Given the description of an element on the screen output the (x, y) to click on. 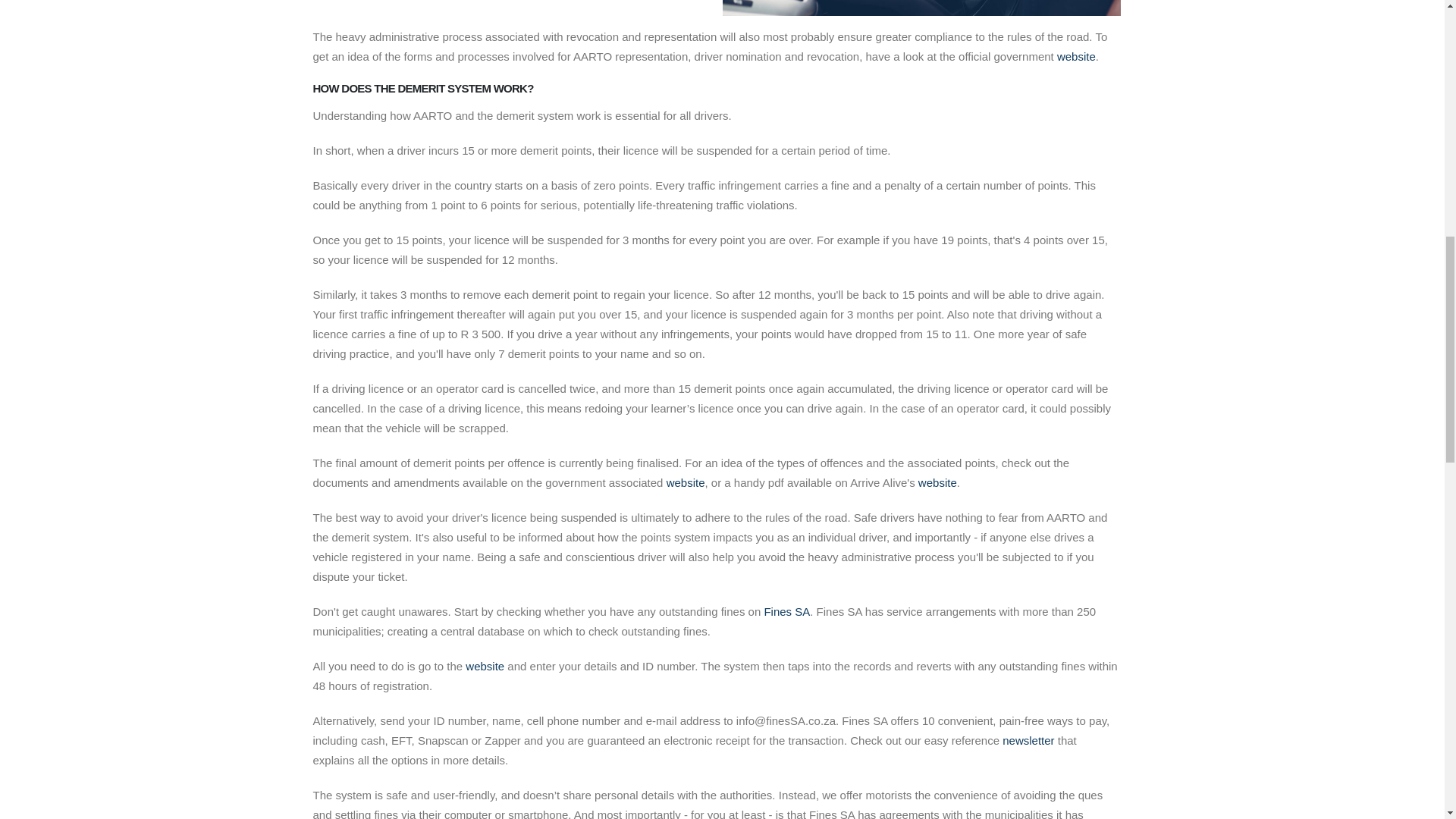
newsletter (1028, 739)
website (1076, 56)
website (937, 481)
website (484, 666)
website (685, 481)
Fines SA (785, 611)
